Given the description of an element on the screen output the (x, y) to click on. 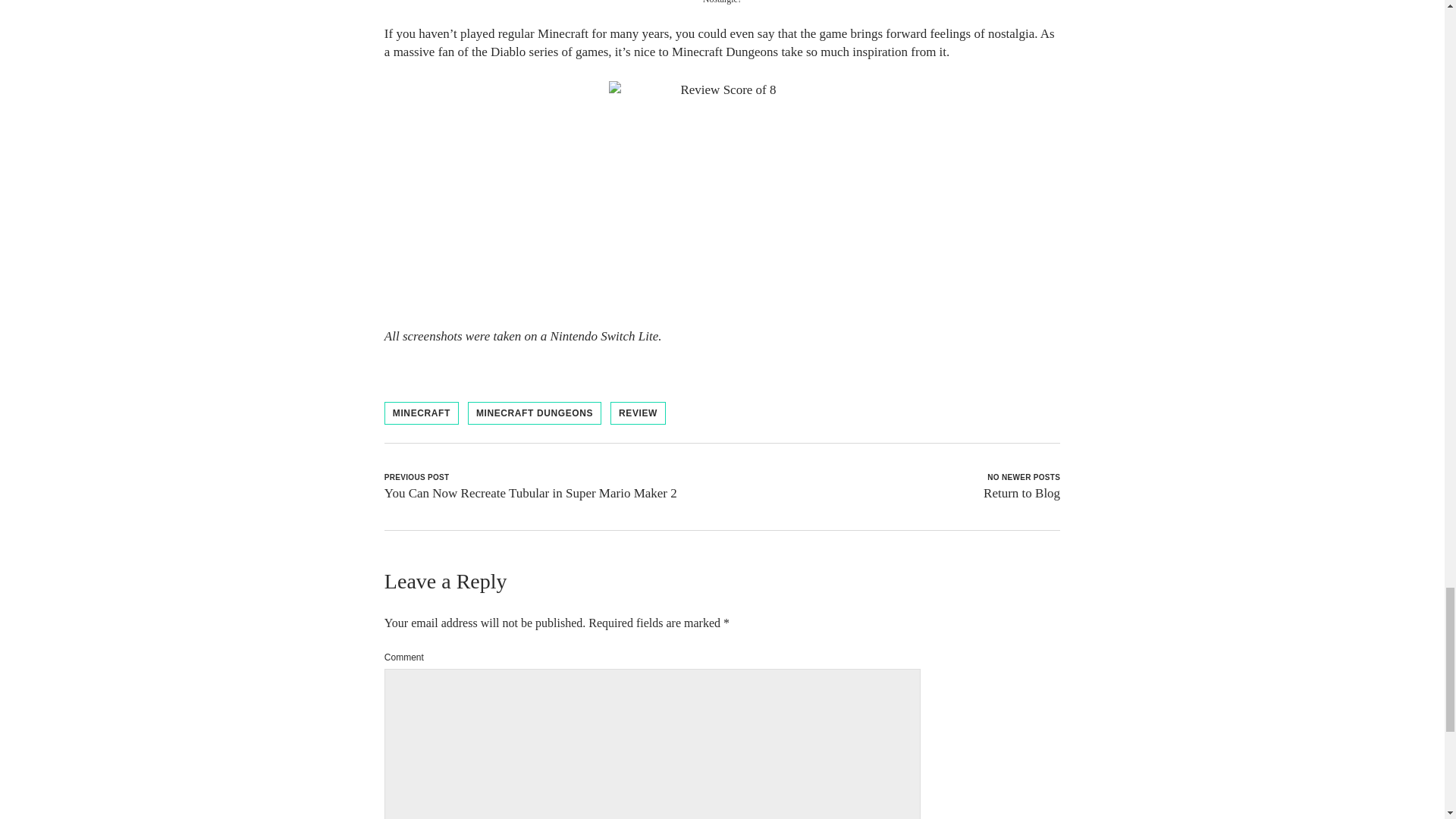
MINECRAFT (421, 413)
Return to Blog (1021, 493)
MINECRAFT DUNGEONS (534, 413)
REVIEW (637, 413)
You Can Now Recreate Tubular in Super Mario Maker 2 (530, 493)
